Given the description of an element on the screen output the (x, y) to click on. 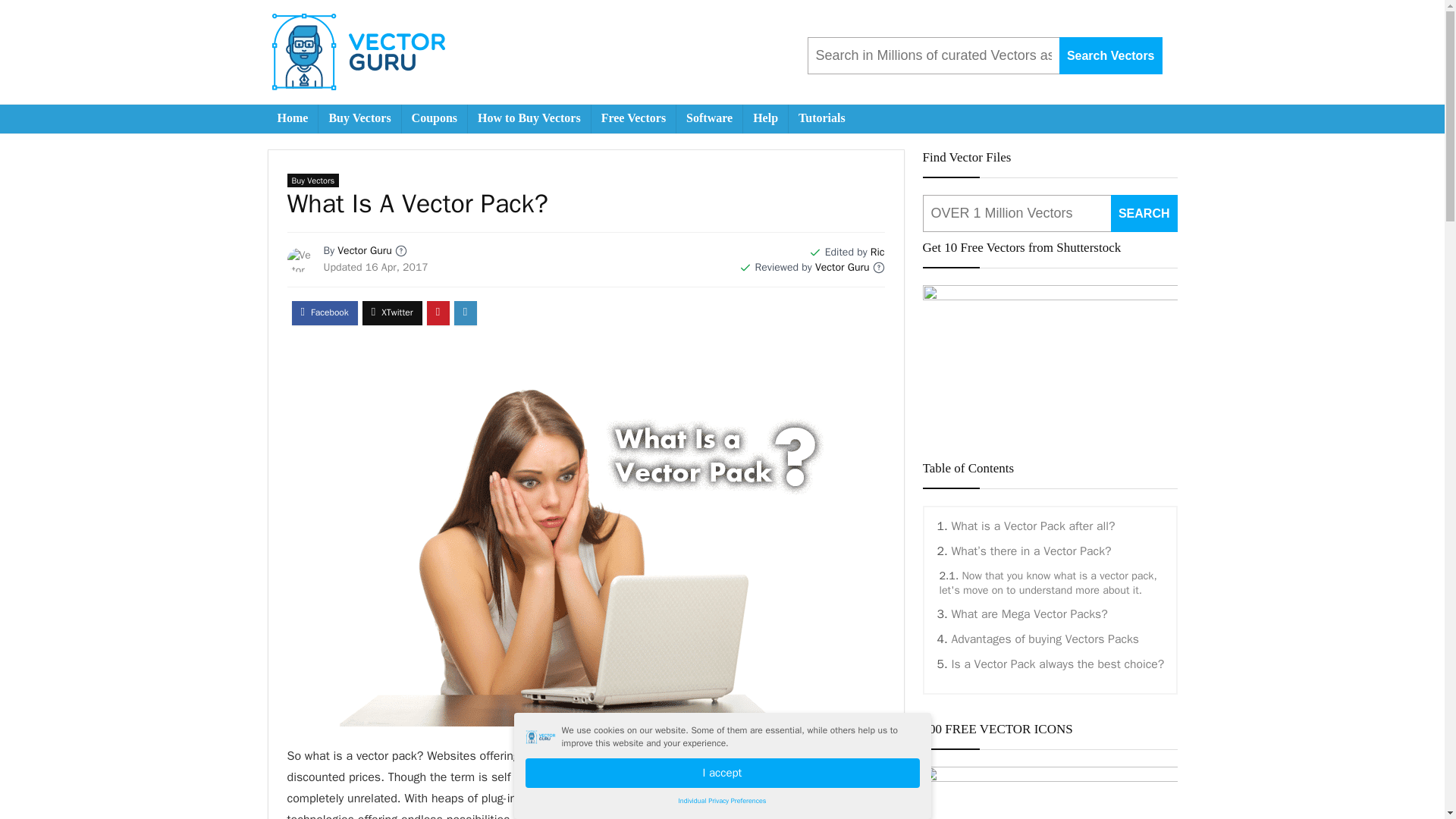
Search Vectors (1110, 55)
Free Vectors (633, 118)
Buy Vectors (312, 180)
Buy Vectors (359, 118)
Software (709, 118)
What is Vector Art? (582, 755)
Vector Guru (364, 250)
Home (291, 118)
Coupons (434, 118)
Vector Guru (842, 267)
